Given the description of an element on the screen output the (x, y) to click on. 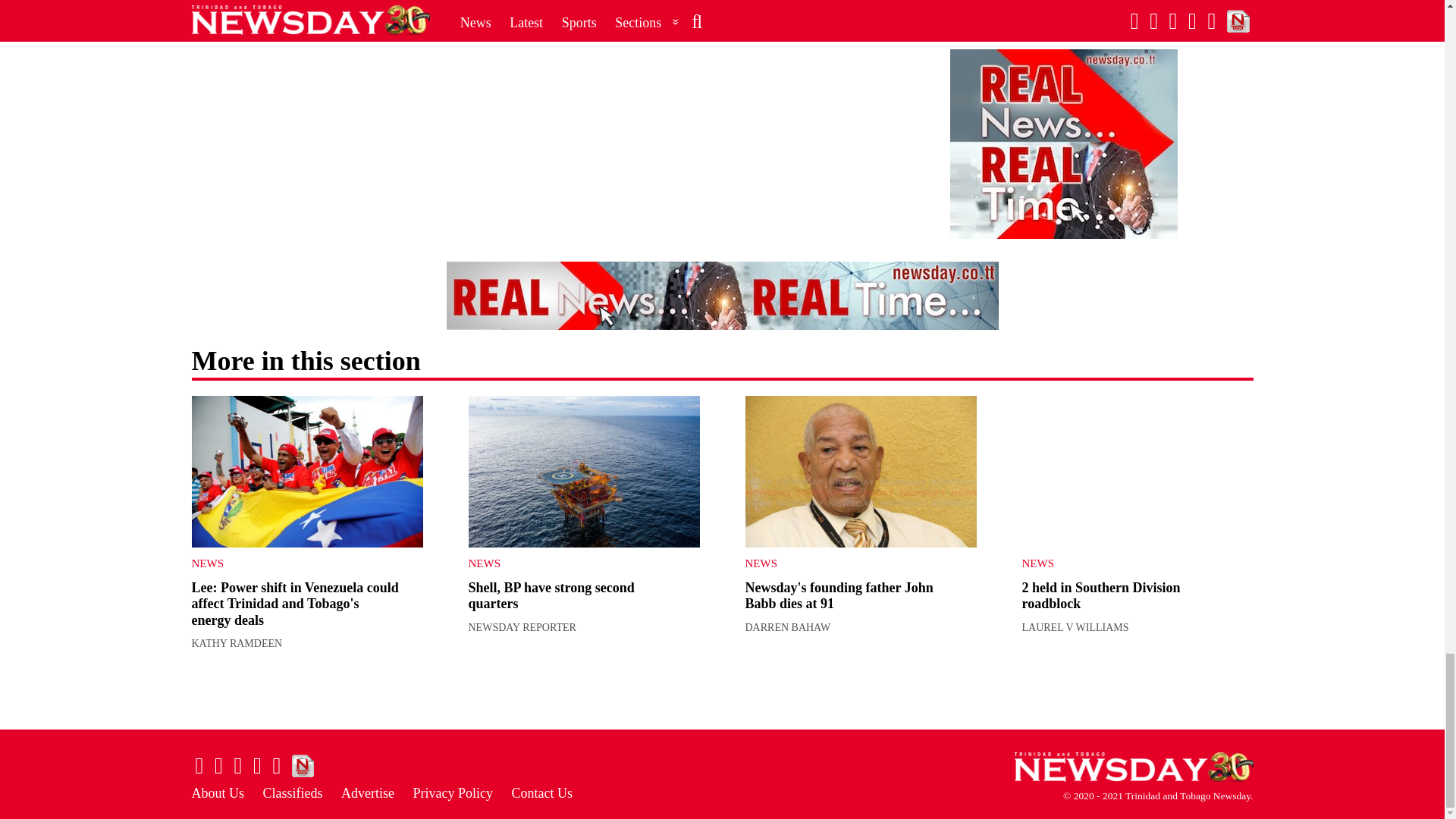
NEWS (572, 563)
Newsday's founding father John Babb dies at 91 (859, 471)
KATHY RAMDEEN (236, 643)
NEWS (294, 563)
2 held in Southern Division roadblock (1137, 471)
Shell, BP have strong second quarters (584, 471)
